Given the description of an element on the screen output the (x, y) to click on. 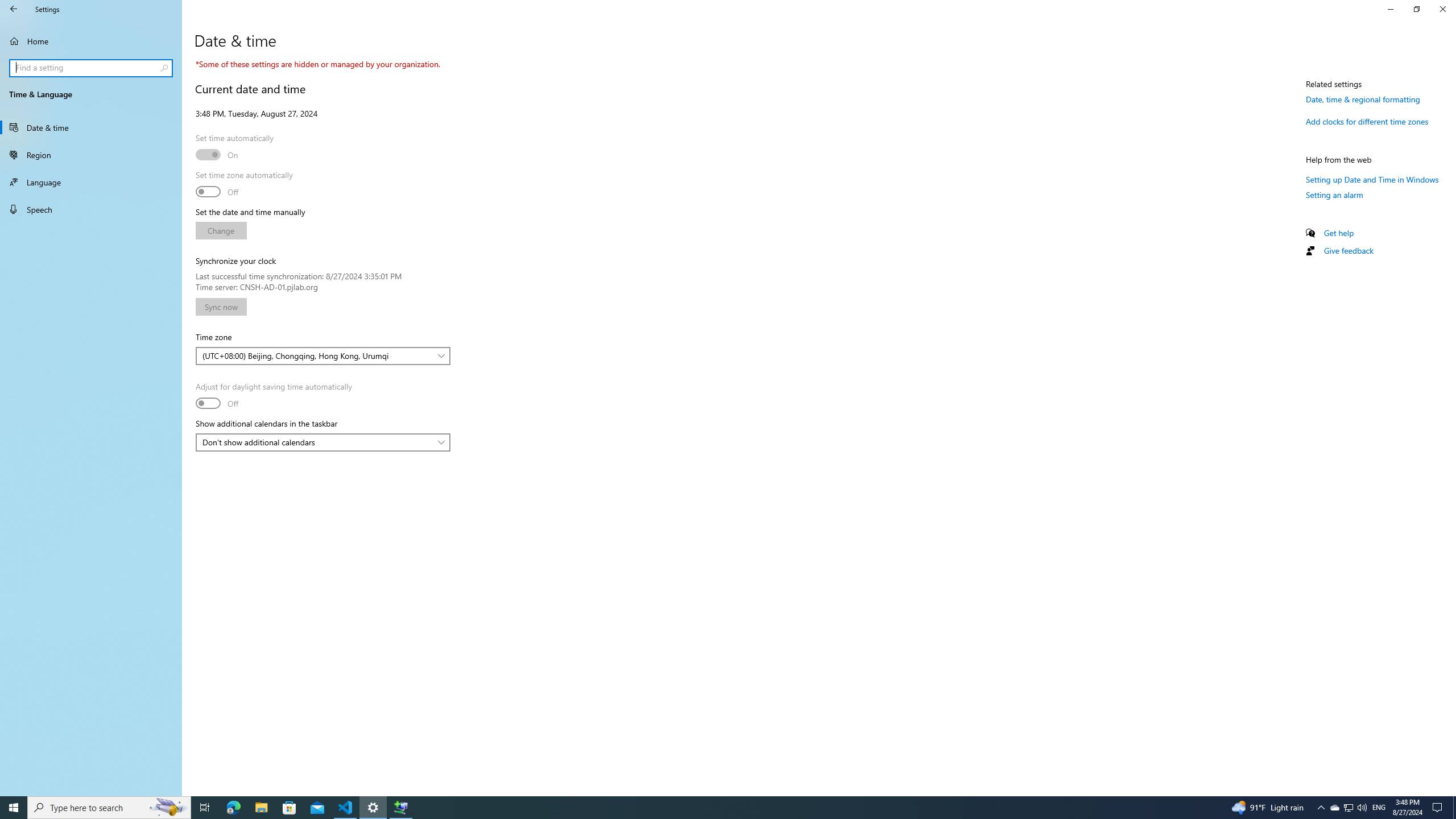
Don't show additional calendars (317, 441)
Region (91, 154)
Adjust for daylight saving time automatically (273, 395)
Date & time (91, 126)
Extensible Wizards Host Process - 1 running window (400, 807)
